Given the description of an element on the screen output the (x, y) to click on. 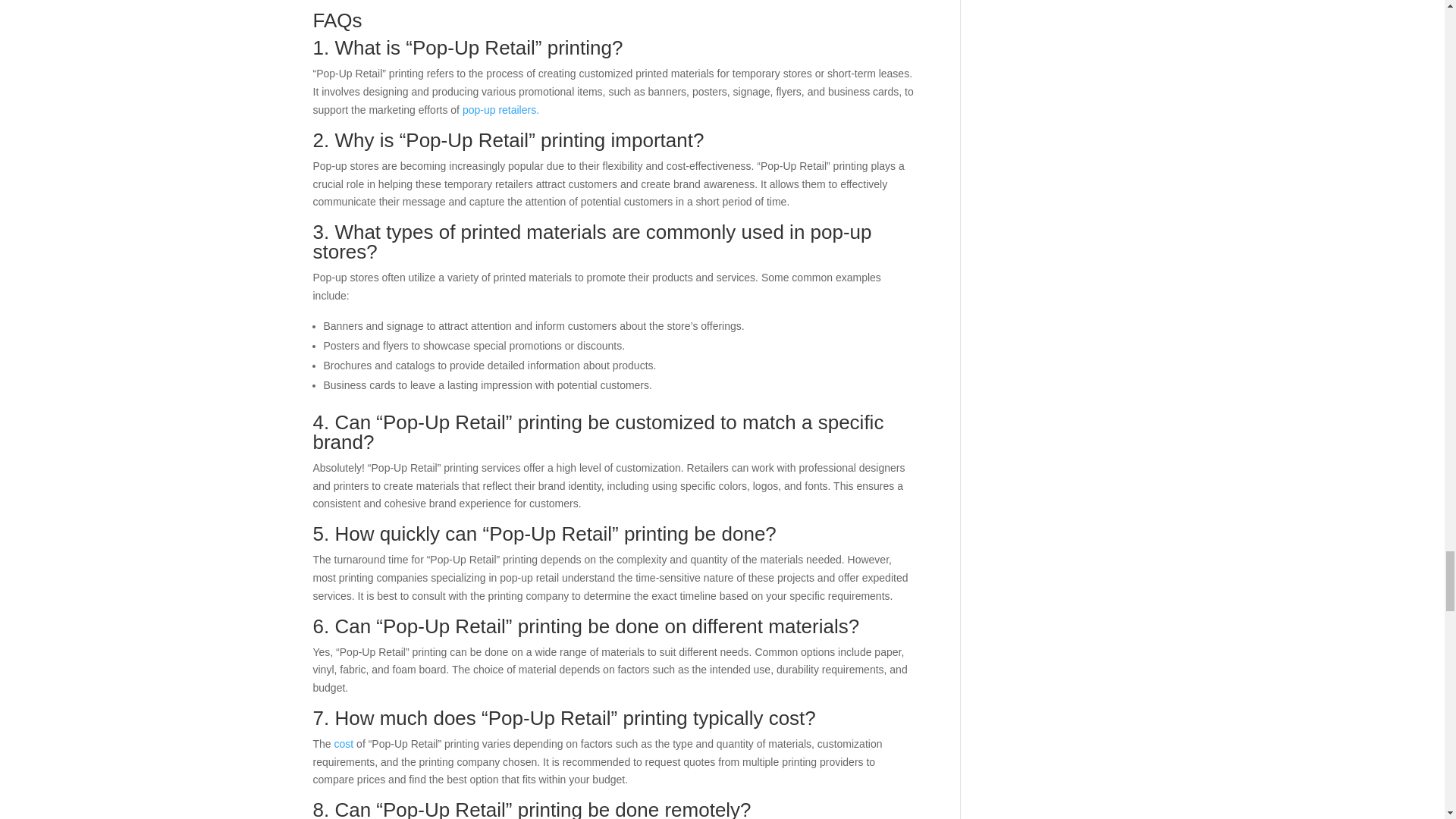
pop-up retailers. (500, 110)
cost (343, 743)
